Given the description of an element on the screen output the (x, y) to click on. 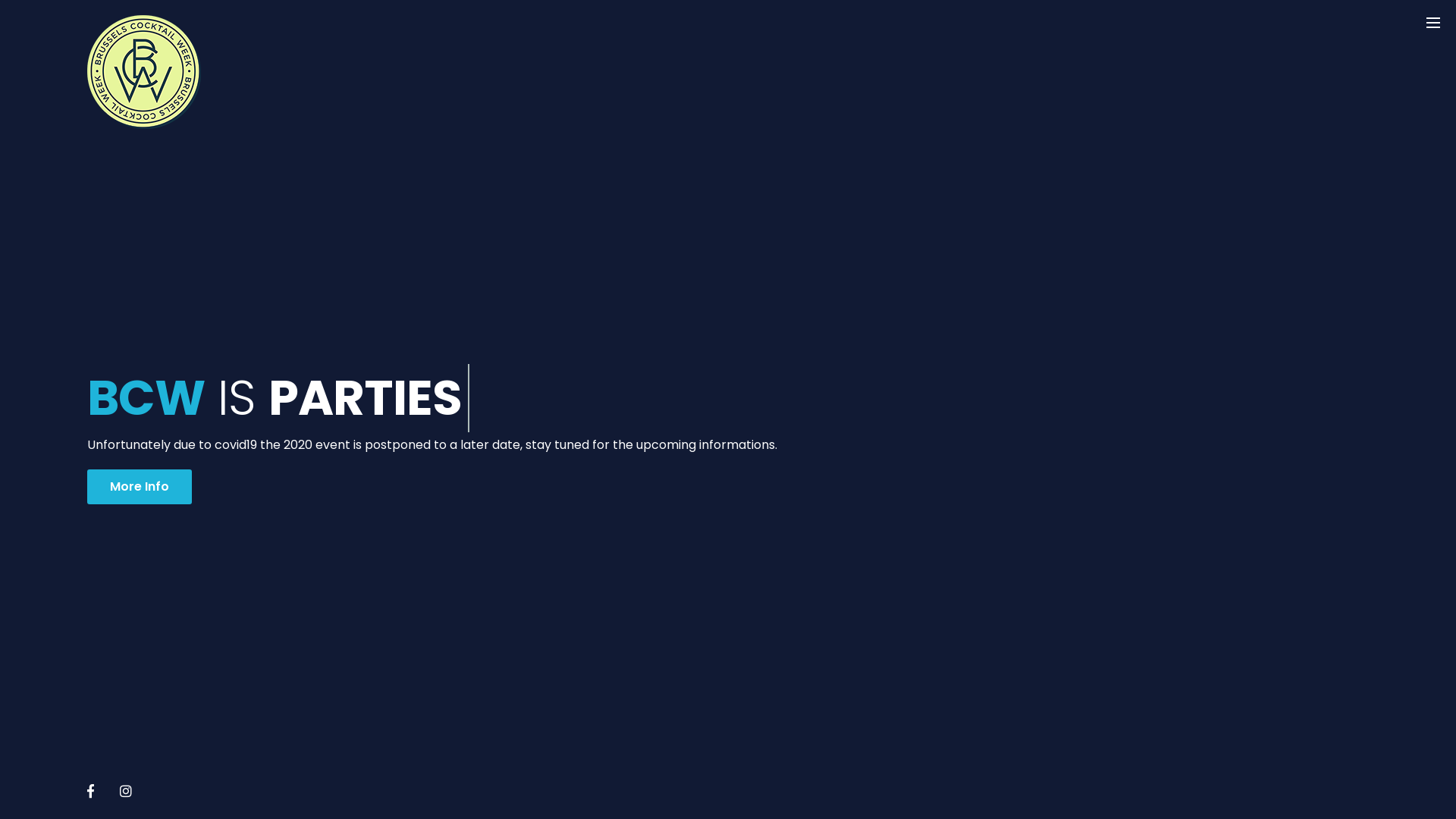
Instagram Element type: hover (125, 790)
Facebook Element type: hover (90, 790)
